Given the description of an element on the screen output the (x, y) to click on. 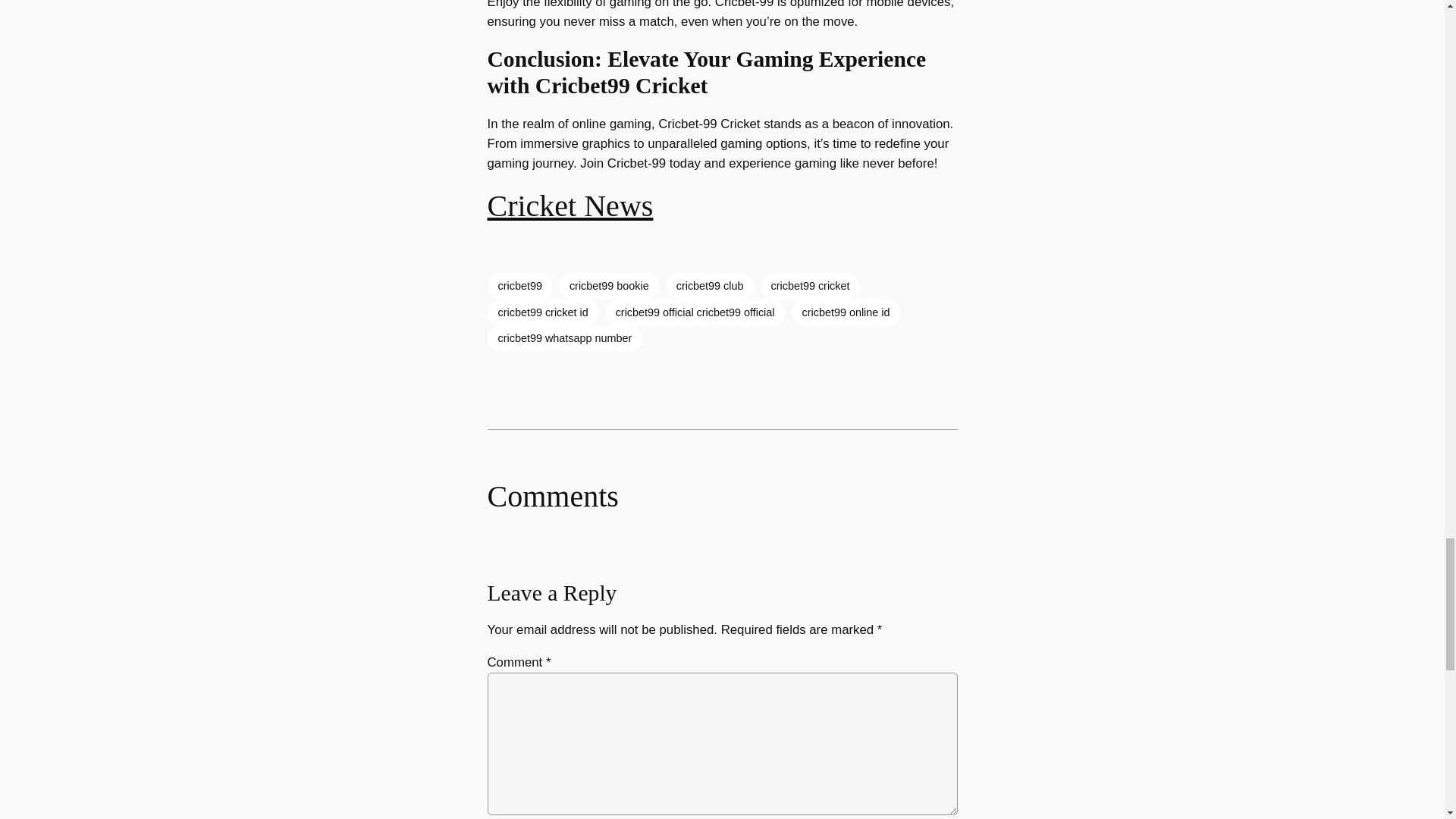
cricbet99 official cricbet99 official (695, 312)
cricbet99 bookie (609, 285)
cricbet99 cricket id (542, 312)
cricbet99 (518, 285)
cricbet99 online id (846, 312)
cricbet99 cricket (810, 285)
Cricket News (569, 205)
cricbet99 club (709, 285)
cricbet99 whatsapp number (564, 338)
